Given the description of an element on the screen output the (x, y) to click on. 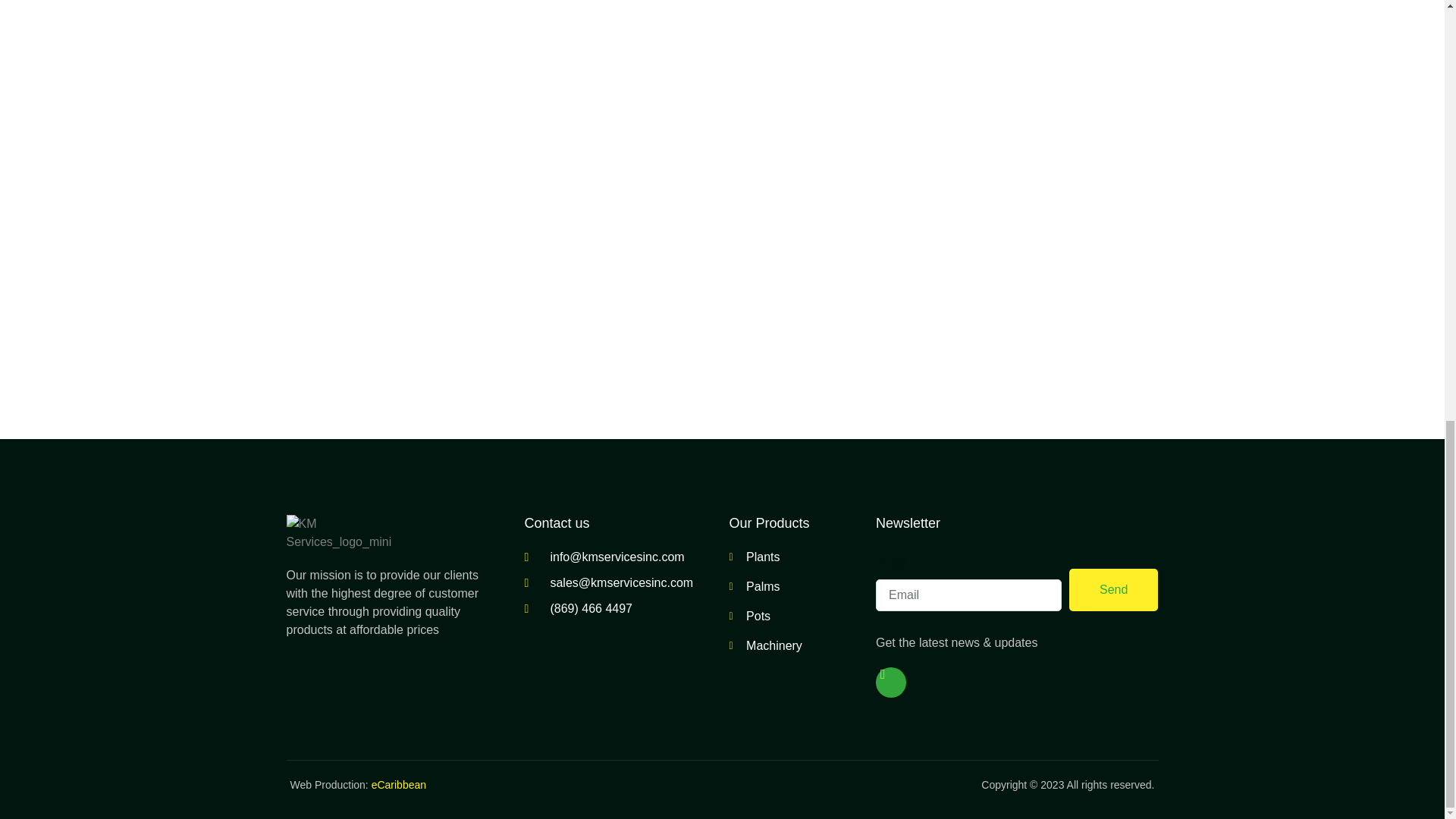
Plants (791, 556)
Palms (791, 587)
Send (1112, 589)
eCaribbean (398, 784)
Machinery (791, 646)
Pots (791, 616)
